Given the description of an element on the screen output the (x, y) to click on. 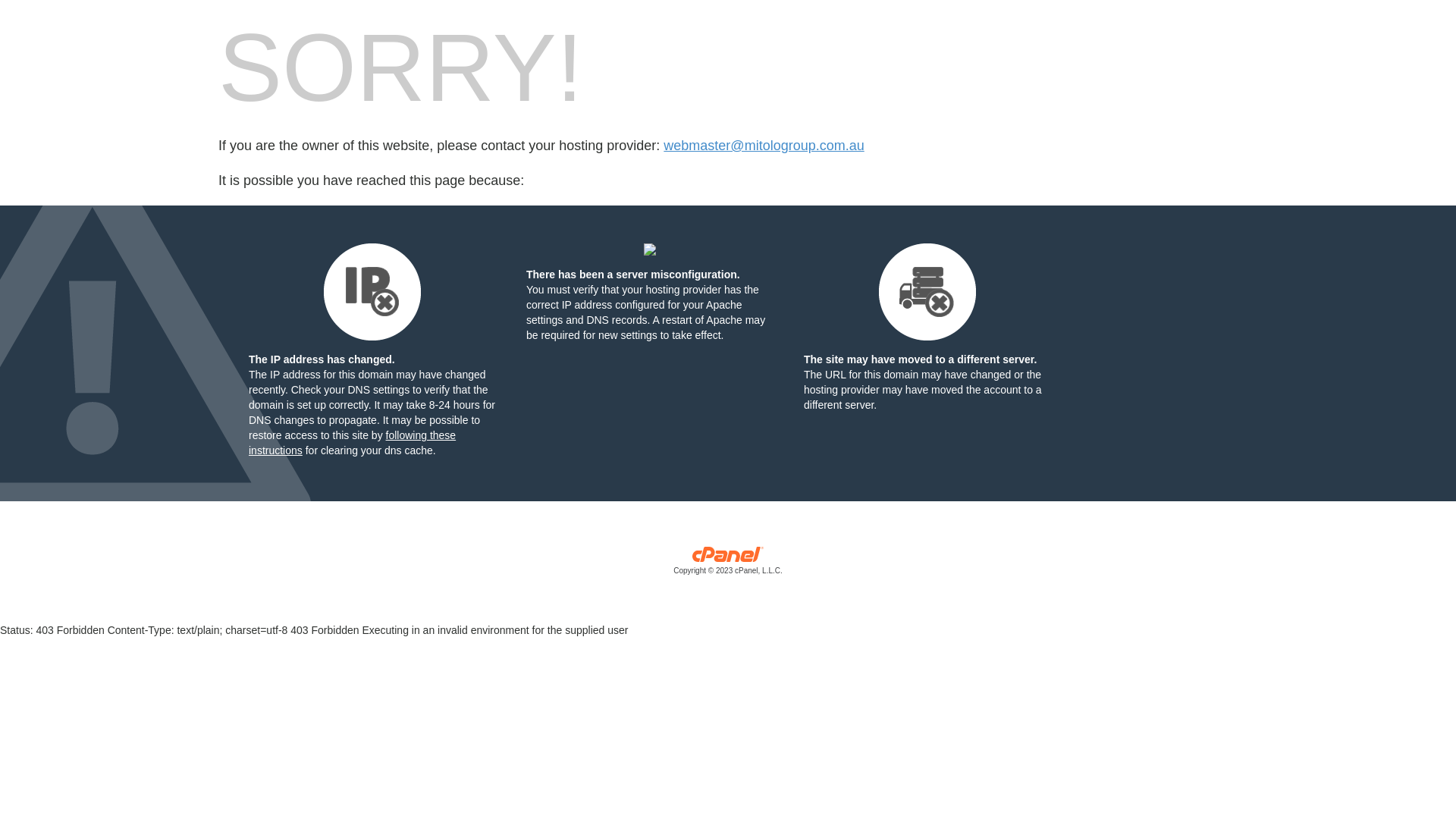
webmaster@mitologroup.com.au Element type: text (763, 145)
following these instructions Element type: text (351, 442)
